Given the description of an element on the screen output the (x, y) to click on. 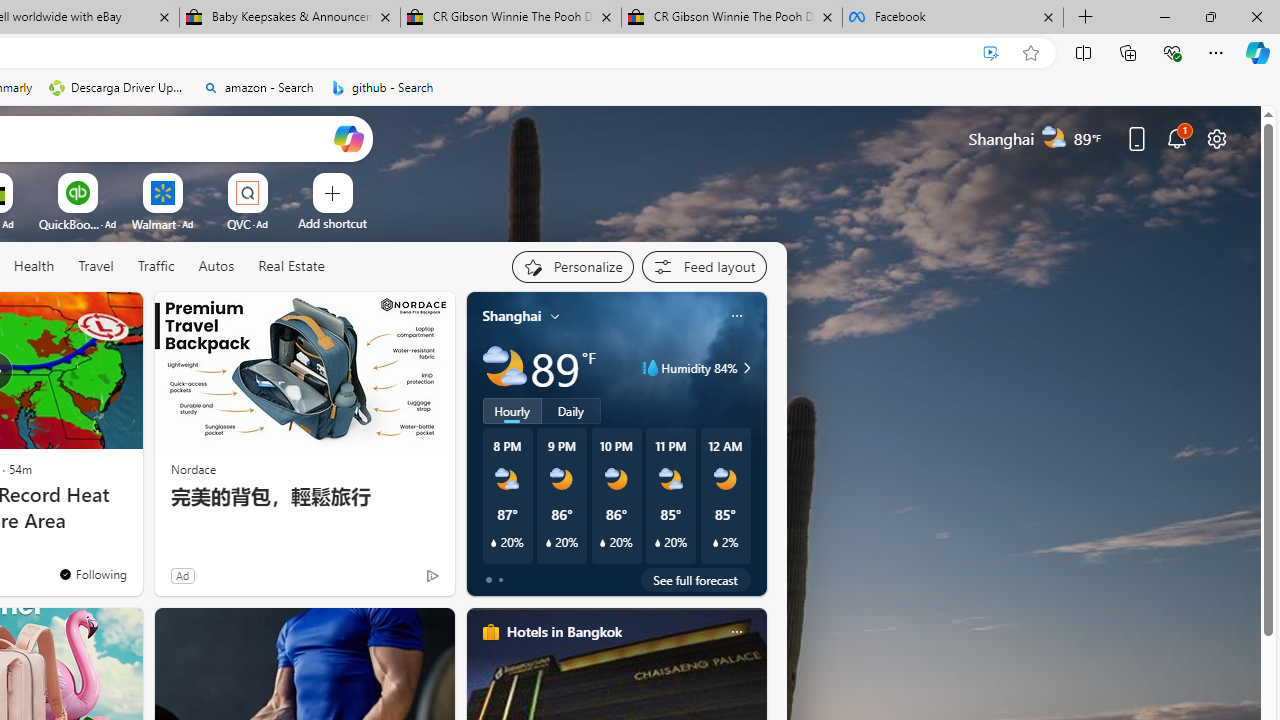
Facebook (953, 17)
Hourly (511, 411)
Traffic (155, 265)
Shanghai (511, 315)
Class: icon-img (736, 632)
Travel (95, 267)
